Given the description of an element on the screen output the (x, y) to click on. 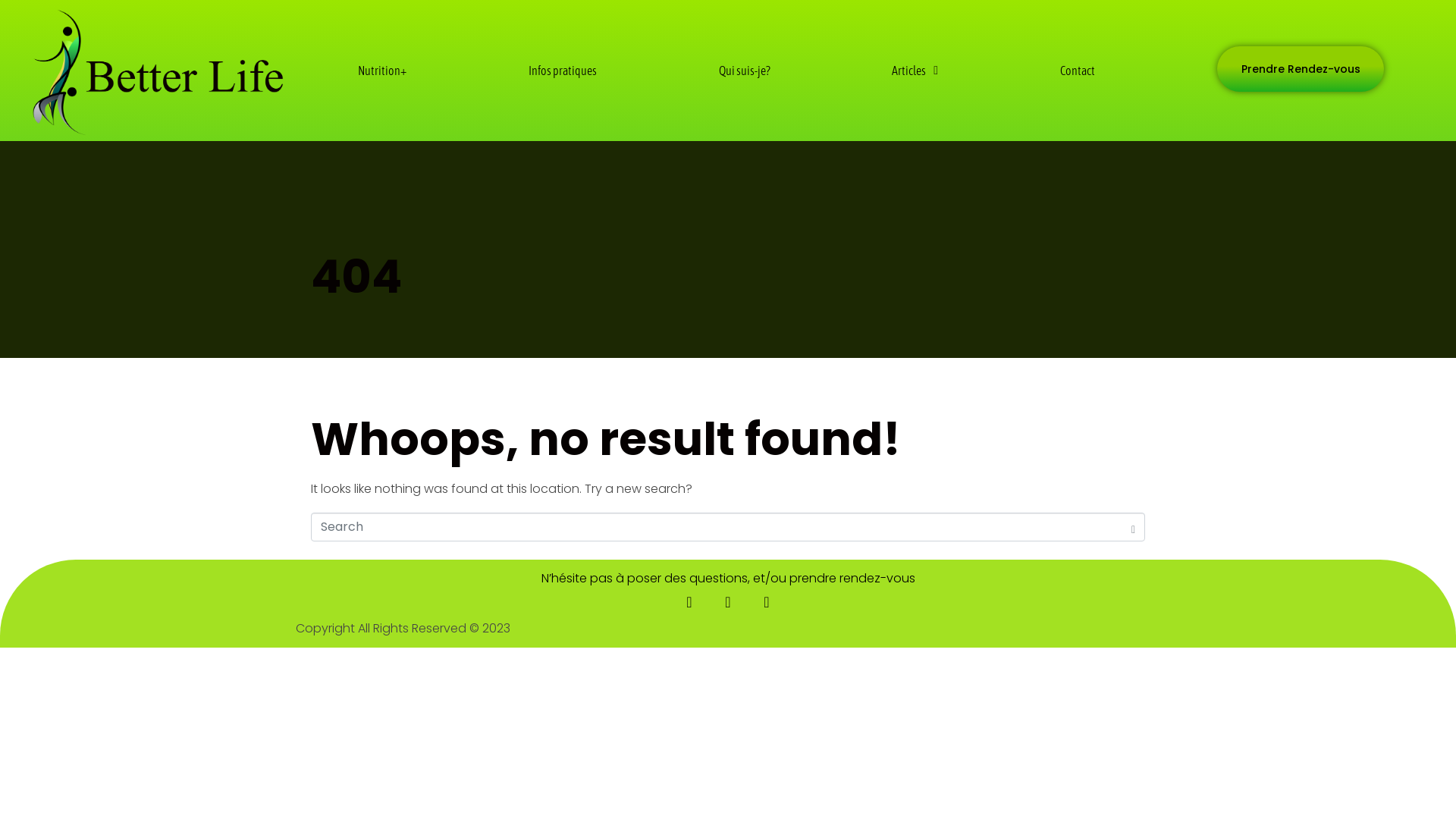
Nutrition+ Element type: text (382, 70)
Prendre Rendez-vous Element type: text (1300, 68)
Qui suis-je? Element type: text (744, 70)
Contact Element type: text (1076, 70)
Infos pratiques Element type: text (562, 70)
Articles Element type: text (915, 70)
